Given the description of an element on the screen output the (x, y) to click on. 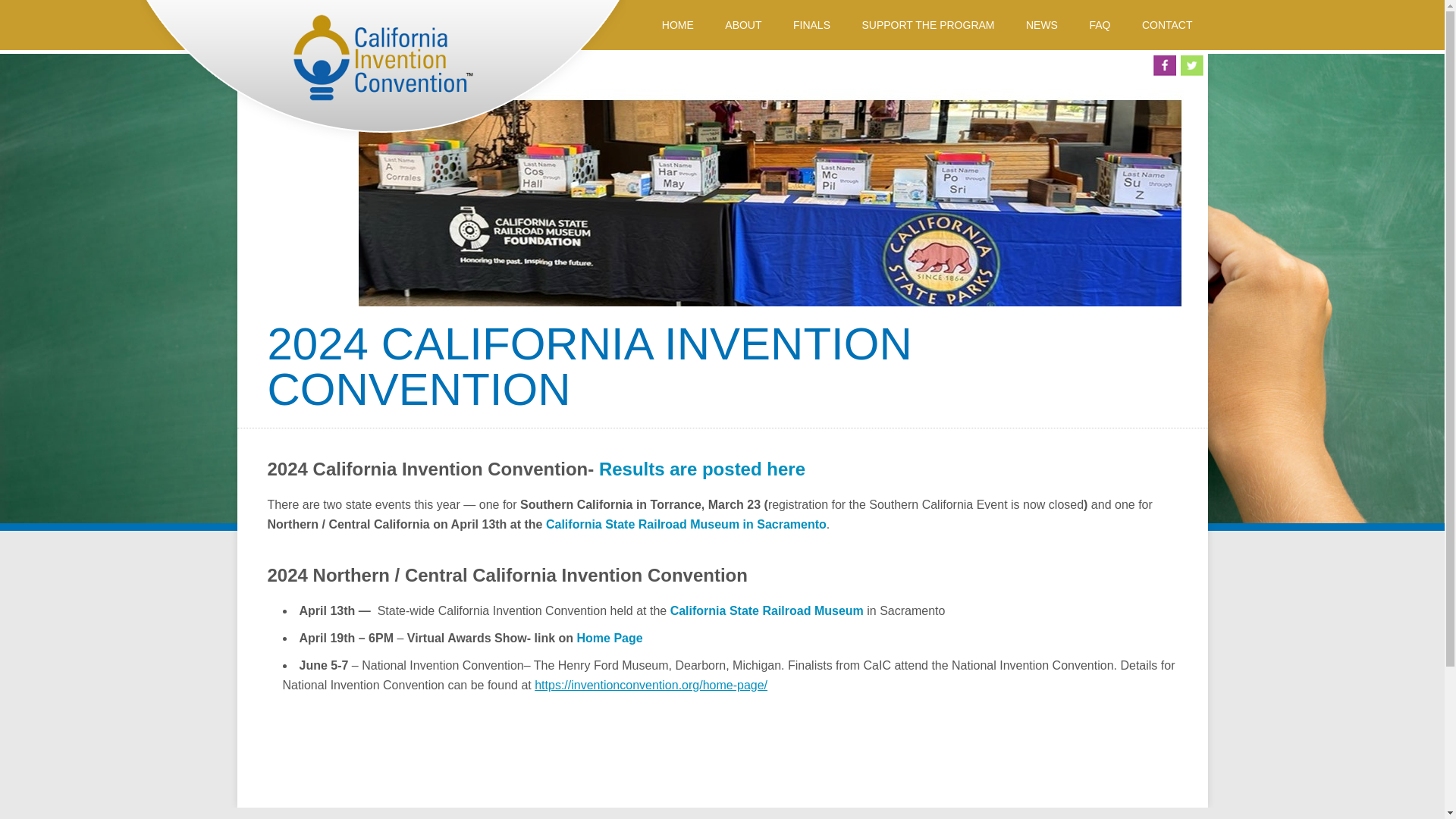
ABOUT (743, 24)
Results are posted here (701, 468)
NEWS (1041, 24)
CONTACT (1167, 24)
California State Railroad Museum in Sacramento (686, 523)
FINALS (811, 24)
HOME (677, 24)
Home Page (609, 637)
FAQ (1099, 24)
California State Railroad Museum (766, 610)
